Given the description of an element on the screen output the (x, y) to click on. 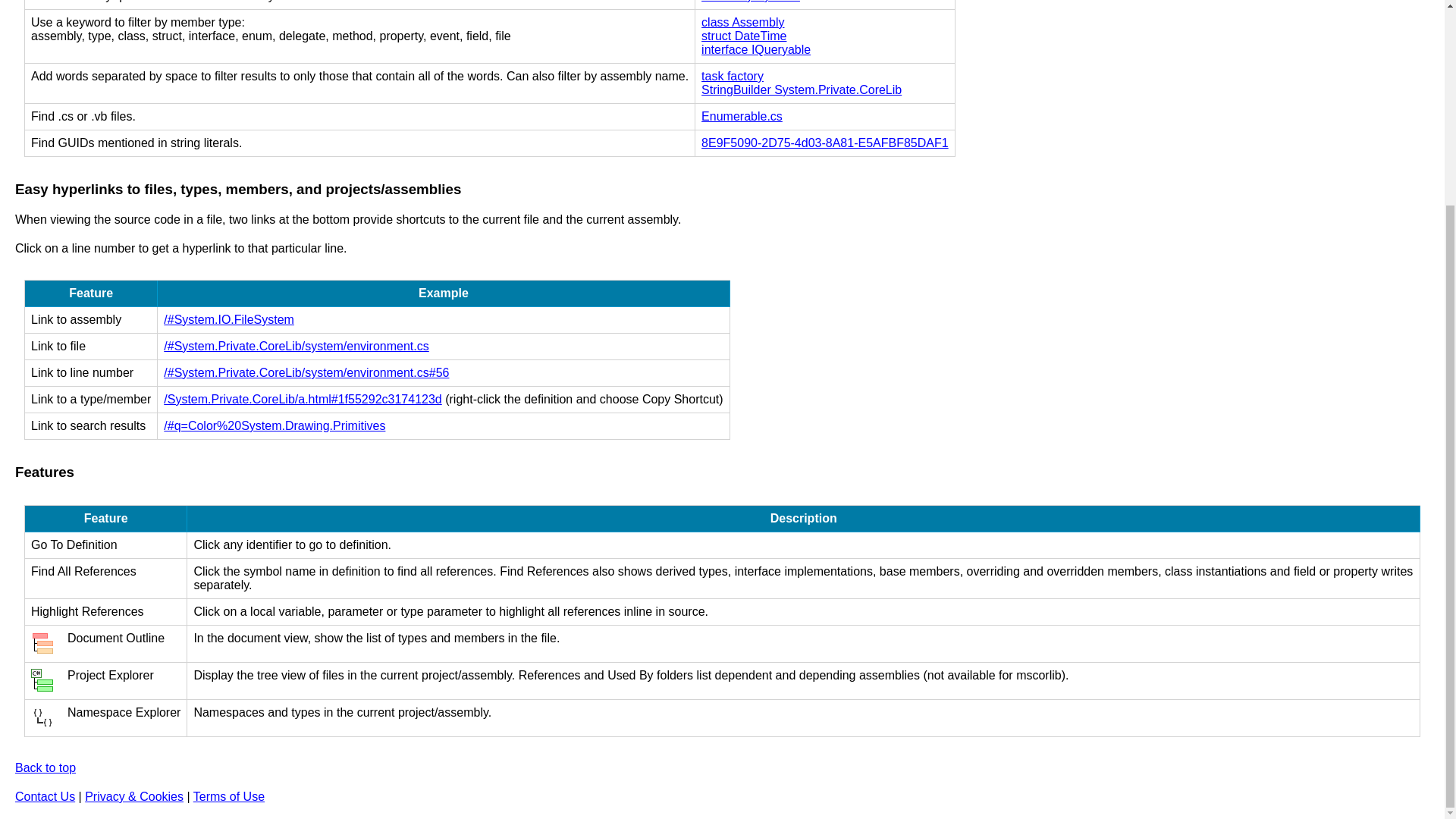
8E9F5090-2D75-4d03-8A81-E5AFBF85DAF1 (825, 142)
struct DateTime (743, 35)
StringBuilder System.Private.CoreLib (801, 89)
Back to top (44, 767)
interface IQueryable (755, 49)
Contact Us (44, 796)
assembly System. (750, 1)
class Assembly (742, 21)
task factory (731, 75)
Terms of Use (228, 796)
Enumerable.cs (742, 115)
